Given the description of an element on the screen output the (x, y) to click on. 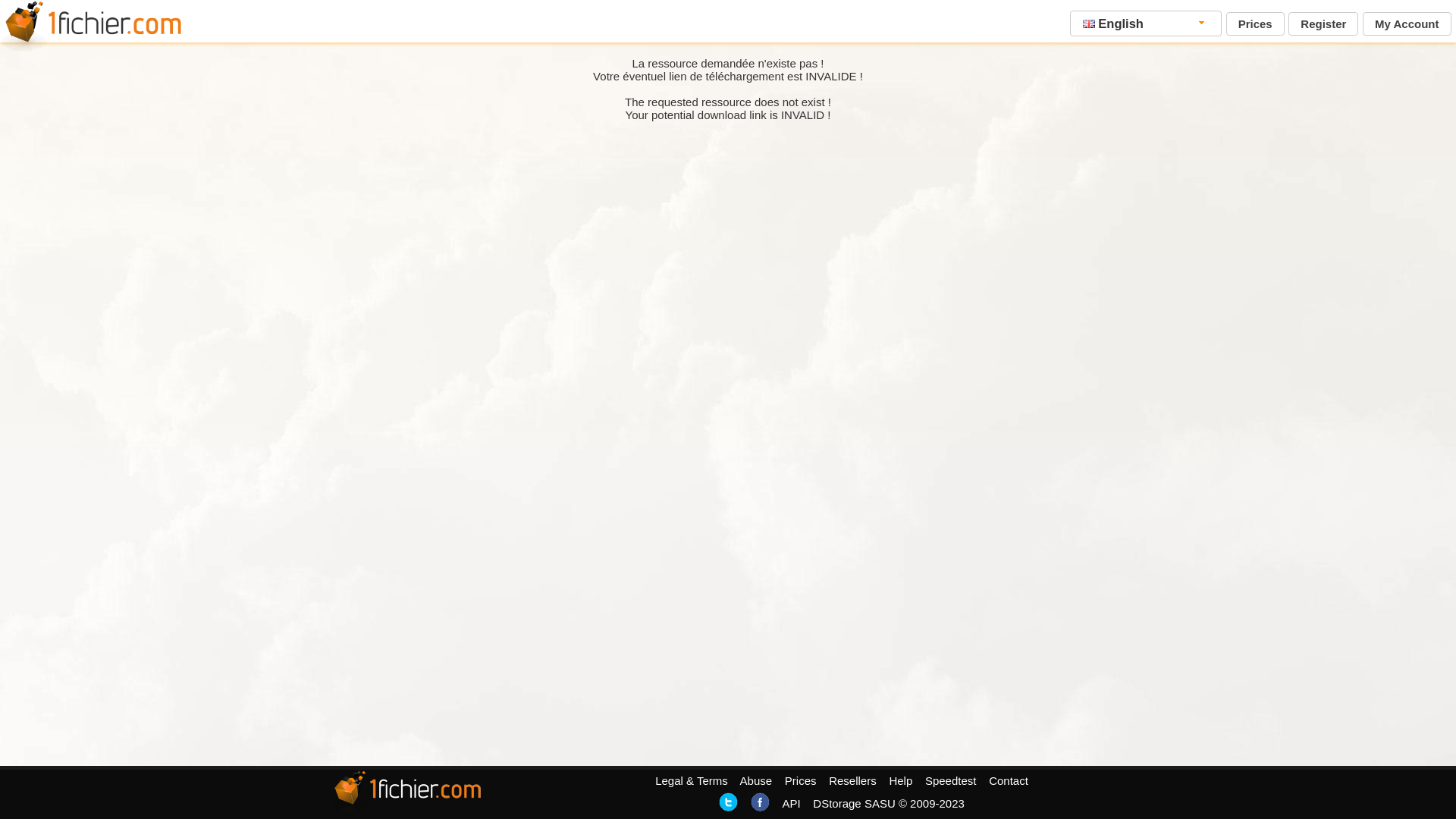
Prices Element type: text (1255, 23)
Prices Element type: text (800, 780)
Register Element type: text (1323, 23)
Abuse Element type: text (756, 780)
Help Element type: text (900, 780)
API Element type: text (790, 803)
Contact Element type: text (1008, 780)
My Account Element type: text (1406, 23)
Resellers Element type: text (852, 780)
Legal & Terms Element type: text (691, 780)
Speedtest Element type: text (950, 780)
